Given the description of an element on the screen output the (x, y) to click on. 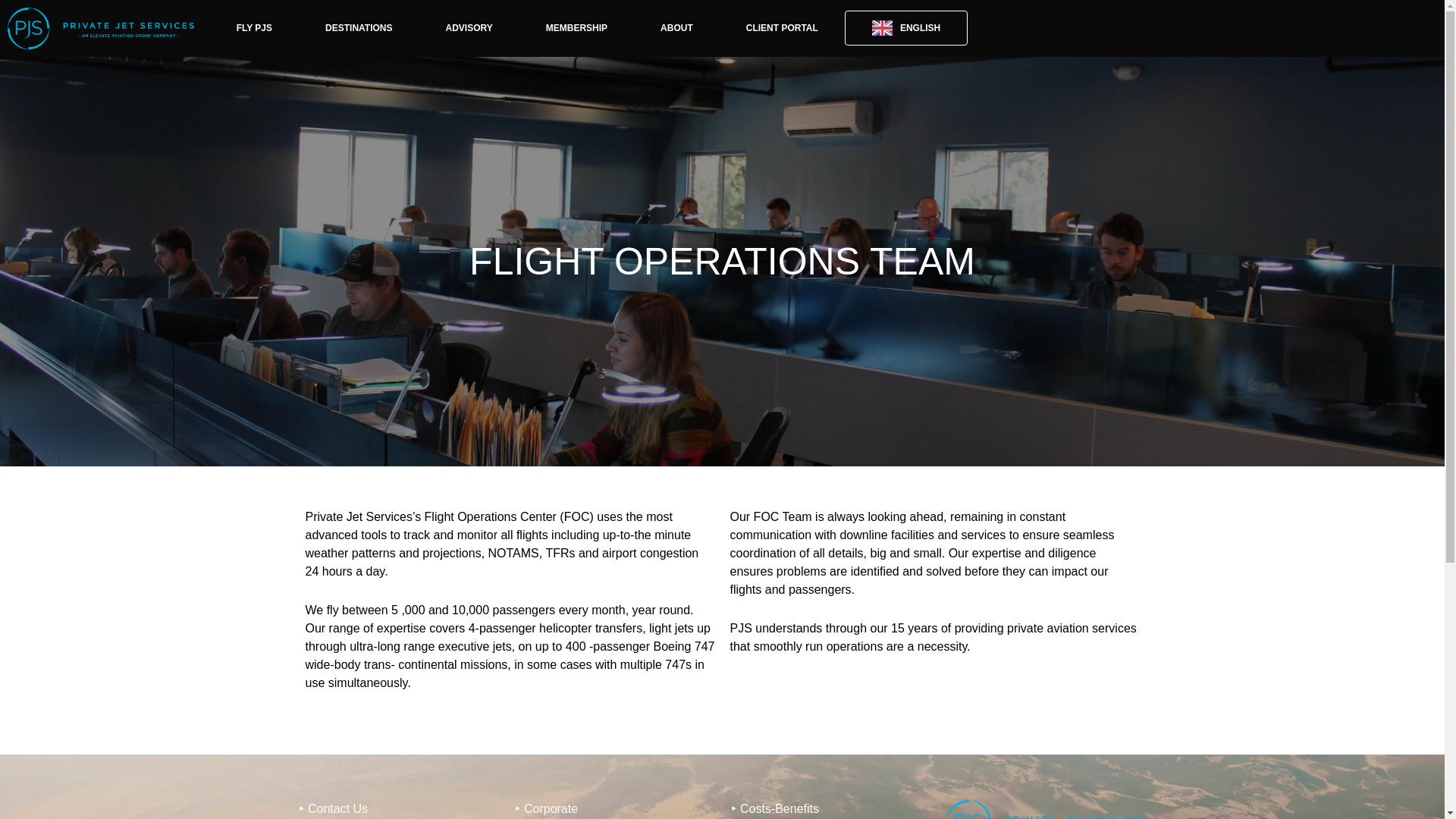
English (905, 28)
ADVISORY (469, 27)
FLY PJS (253, 27)
DESTINATIONS (358, 27)
